Given the description of an element on the screen output the (x, y) to click on. 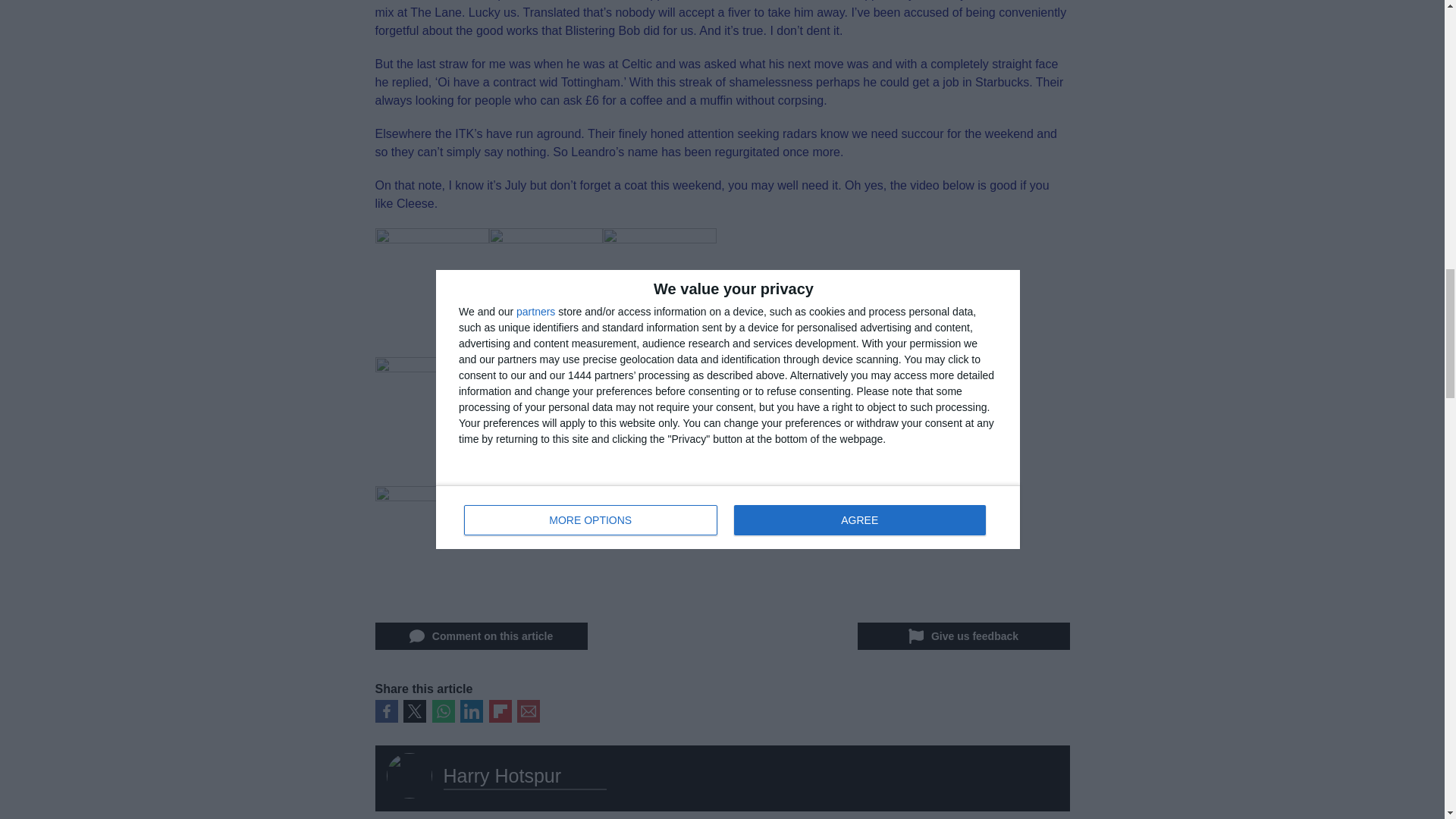
TP015c (430, 284)
SD0388c (659, 284)
HM0145c (430, 413)
